Given the description of an element on the screen output the (x, y) to click on. 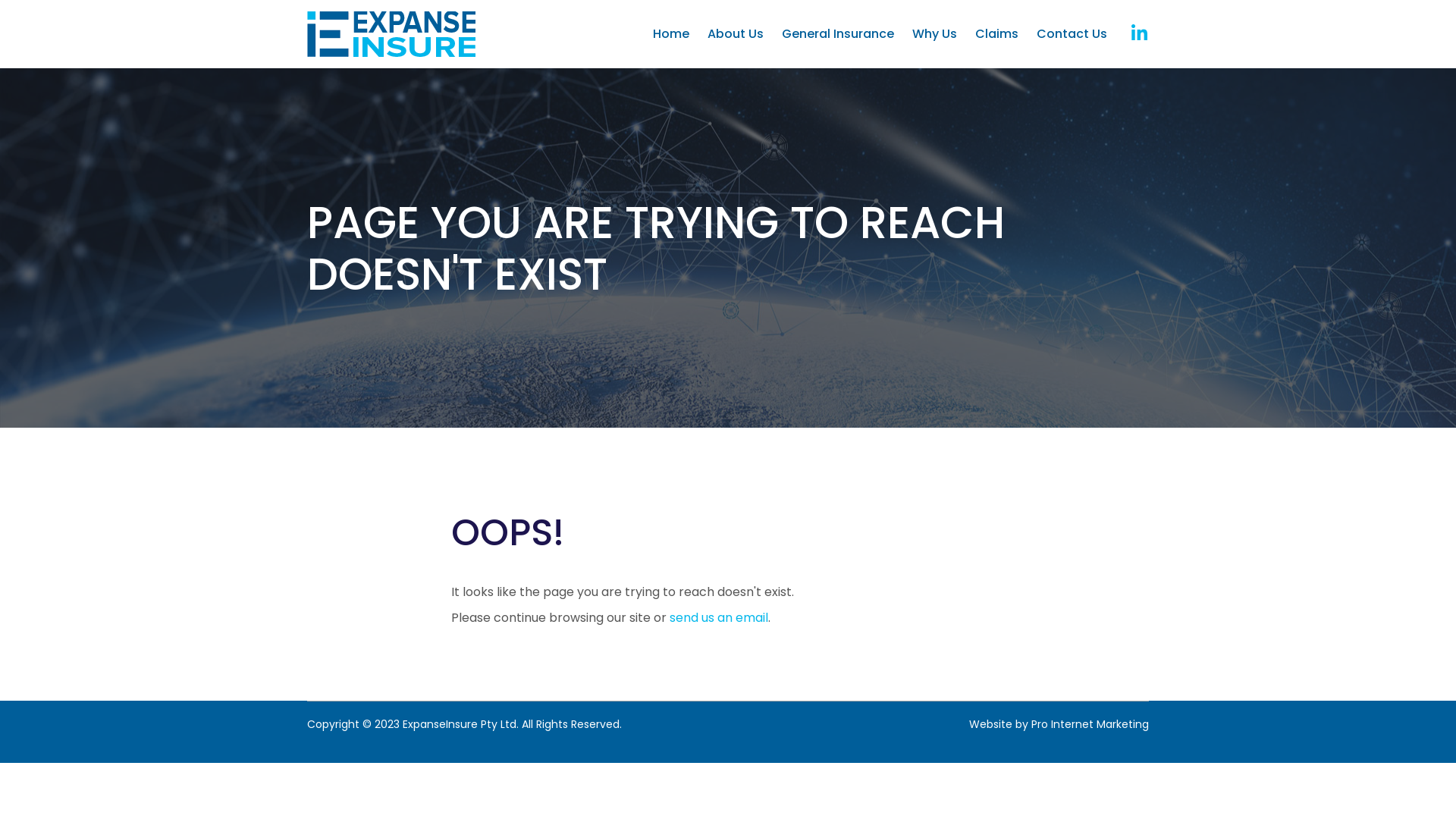
Why Us Element type: text (934, 33)
Claims Element type: text (996, 33)
About Us Element type: text (735, 33)
send us an email Element type: text (718, 617)
Contact Us Element type: text (1071, 33)
Home Element type: text (670, 33)
General Insurance Element type: text (837, 33)
Pro Internet Marketing Element type: text (1089, 723)
